Given the description of an element on the screen output the (x, y) to click on. 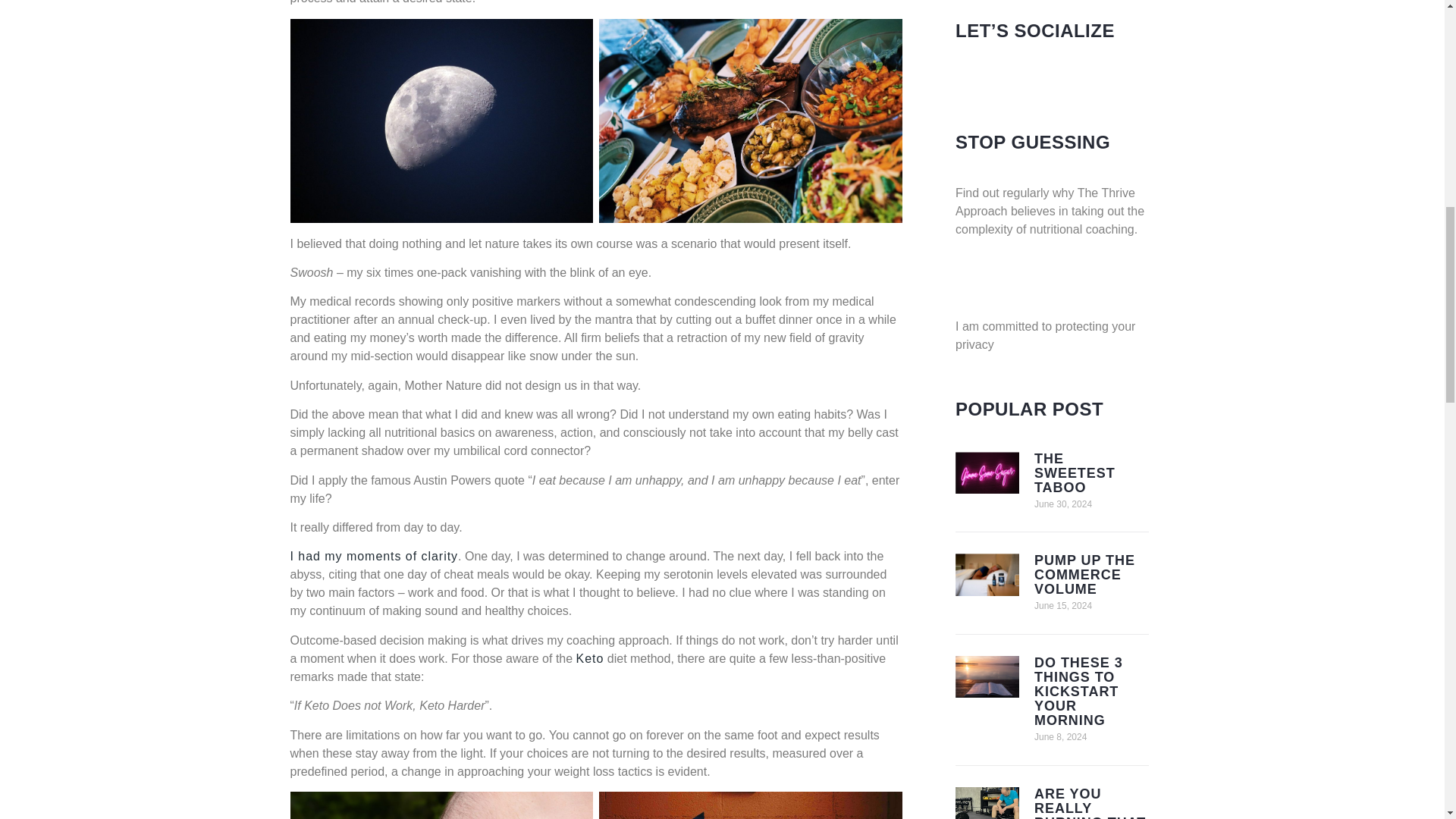
Keto (590, 658)
DO THESE 3 THINGS TO KICKSTART YOUR MORNING (1077, 691)
THE SWEETEST TABOO (1074, 473)
PUMP UP THE COMMERCE VOLUME (1084, 574)
I had my moments of clarity (373, 555)
ARE YOU REALLY BURNING THAT MUCH? (1089, 802)
